Given the description of an element on the screen output the (x, y) to click on. 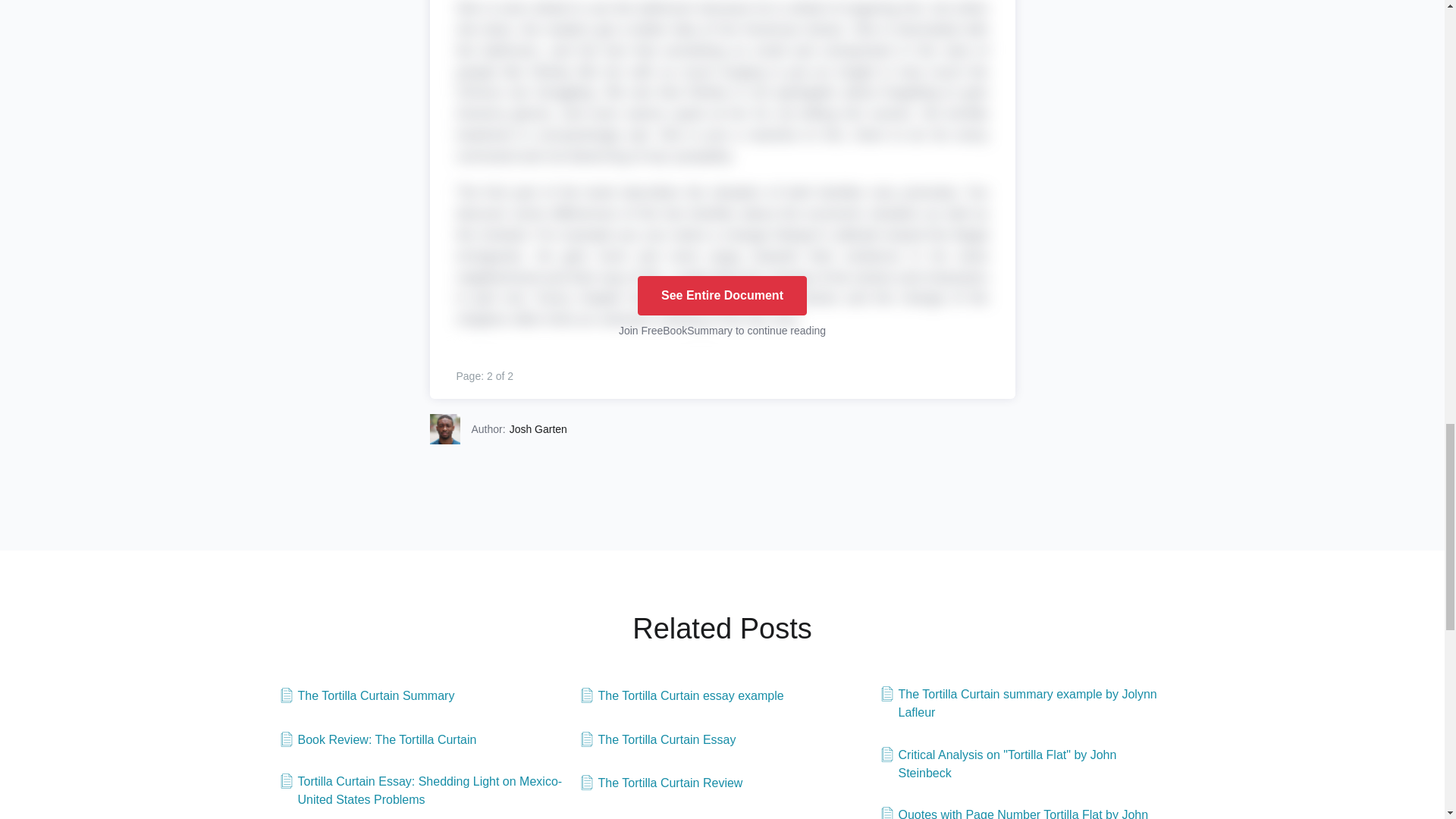
The Tortilla Curtain Essay (657, 740)
The Tortilla Curtain Summary (366, 696)
Quotes with Page Number Tortilla Flat by John Steinbeck (1022, 812)
The Tortilla Curtain Review (660, 782)
Critical Analysis on "Tortilla Flat" by John Steinbeck (1022, 764)
The Tortilla Curtain summary example by Jolynn Lafleur (1022, 703)
Book Review: The Tortilla Curtain (378, 740)
The Tortilla Curtain essay example (681, 696)
